Given the description of an element on the screen output the (x, y) to click on. 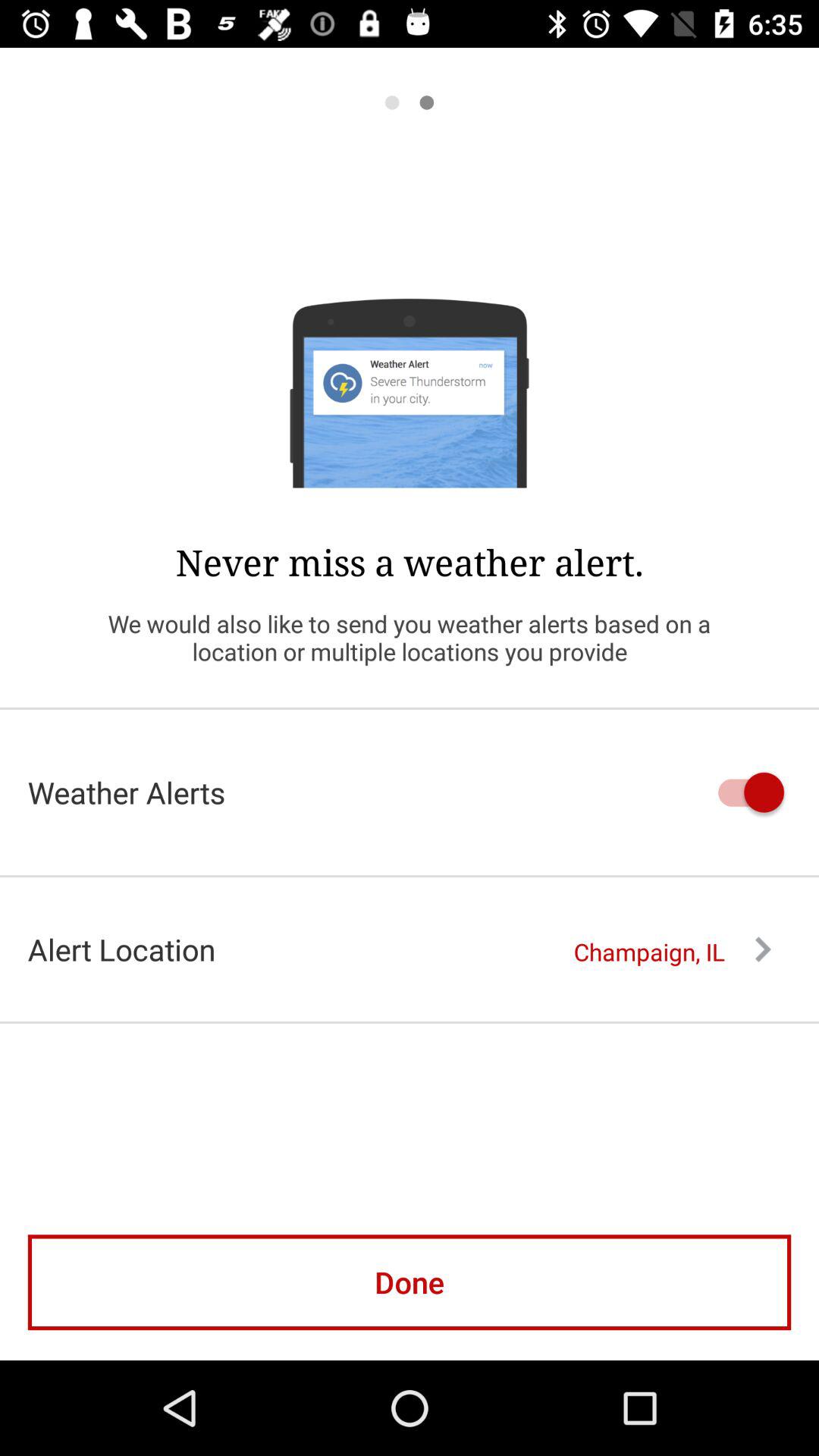
swipe until the champaign, il icon (672, 951)
